Given the description of an element on the screen output the (x, y) to click on. 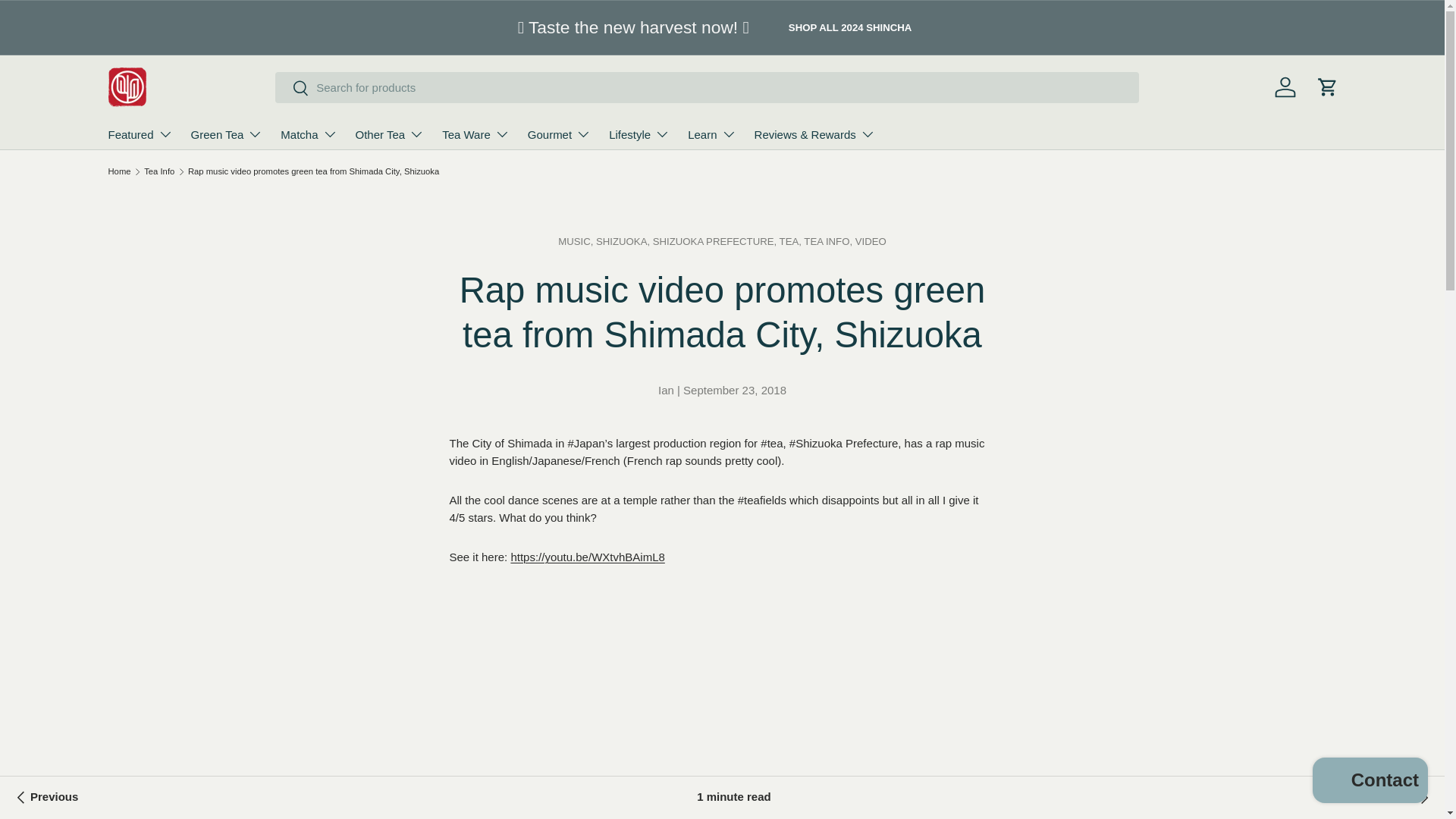
SKIP TO CONTENT (63, 23)
Cart (1326, 87)
Yokota Tea Garden: Sayama tea field photo on a rainy day (44, 797)
Shopify online store chat (1369, 781)
SHOP ALL 2024 SHINCHA (849, 27)
Green Tea (226, 133)
Matcha Sakura Bread Recipe (1410, 797)
Search (291, 89)
Featured (139, 133)
Log in (1284, 87)
